Given the description of an element on the screen output the (x, y) to click on. 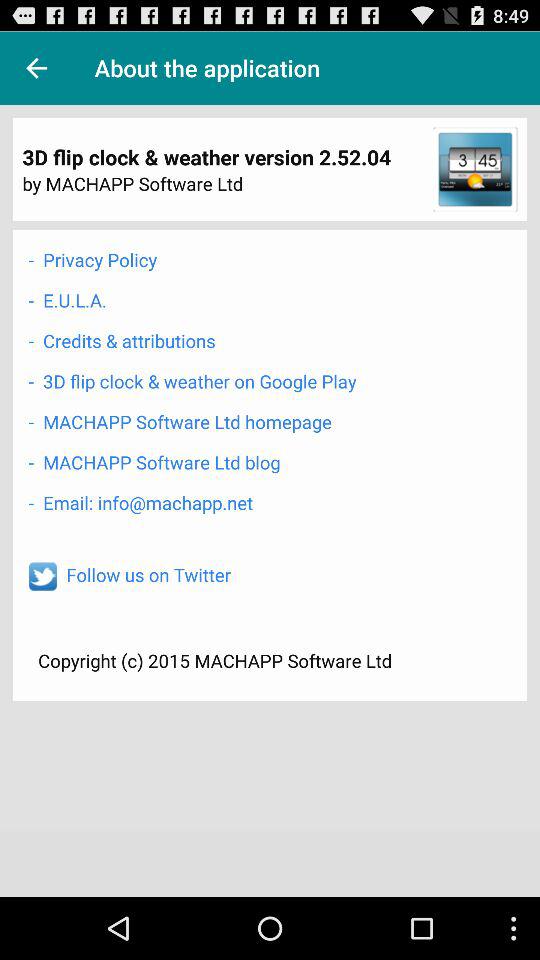
turn on follow us on (148, 574)
